Given the description of an element on the screen output the (x, y) to click on. 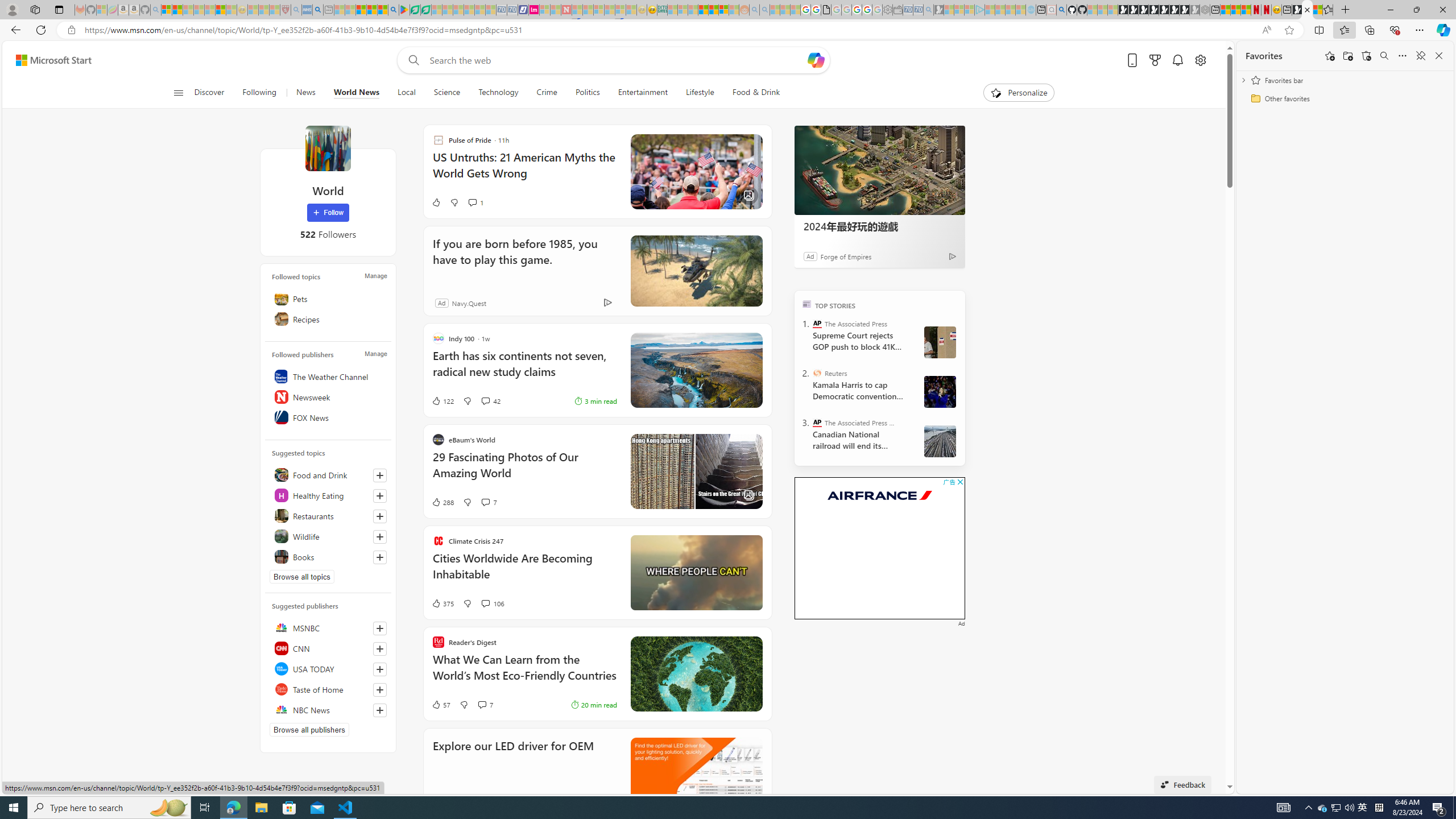
Microsoft Start Gaming - Sleeping (938, 9)
Cheap Hotels - Save70.com - Sleeping (512, 9)
Follow this topic (379, 557)
Newsweek (327, 397)
Earth has six continents not seven, radical new study claims (524, 369)
Terms of Use Agreement (414, 9)
Cities Worldwide Are Becoming Inhabitable (524, 572)
